Given the description of an element on the screen output the (x, y) to click on. 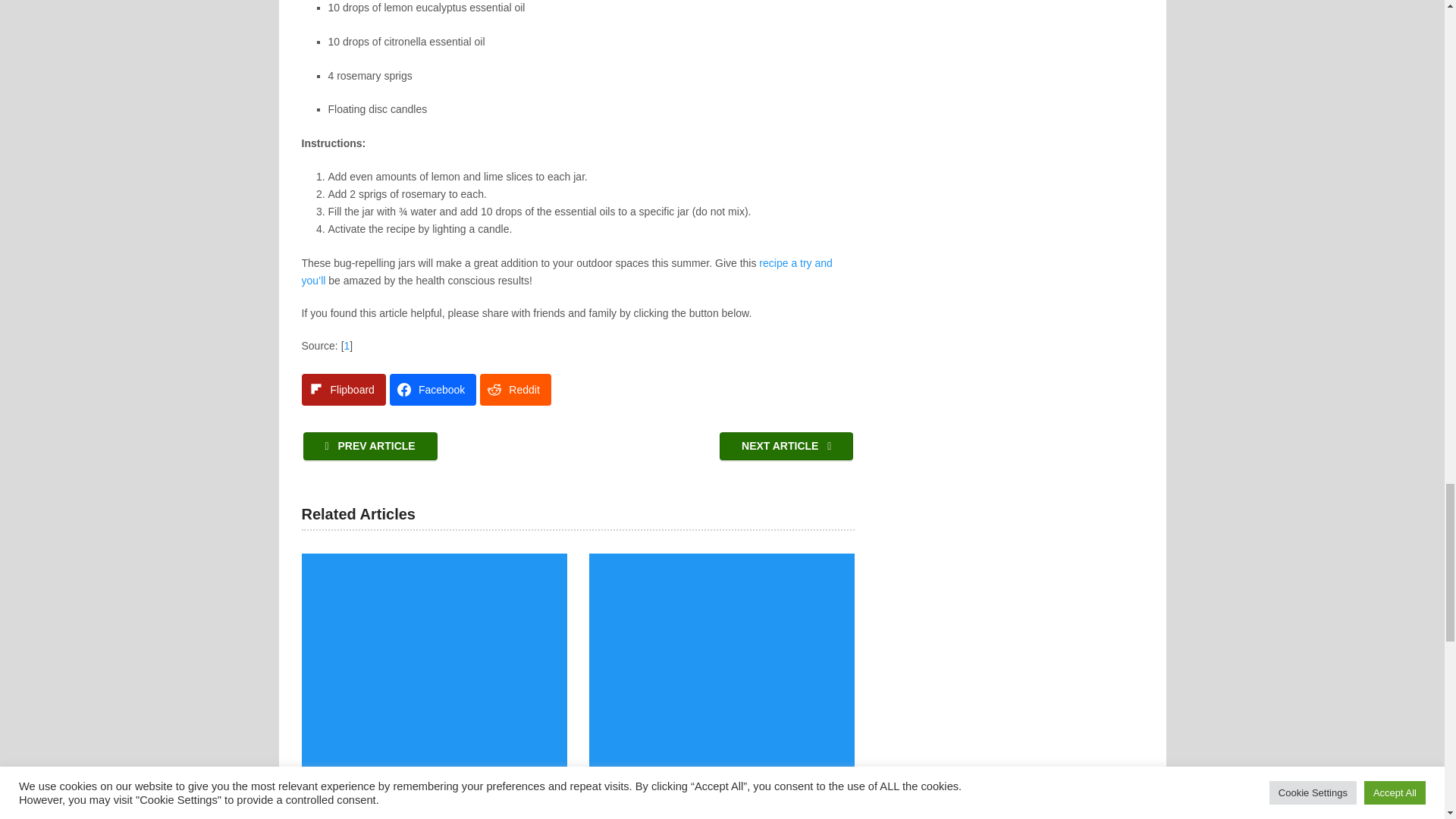
Share on Facebook (433, 389)
Share on Flipboard (343, 389)
Facebook (433, 389)
Flipboard (343, 389)
Reddit (515, 389)
Share on Reddit (515, 389)
NEXT ARTICLE (786, 446)
PREV ARTICLE (370, 446)
Do Stress Fractures Heal On Their Own? No, Here Is Why 2022 (721, 686)
